Given the description of an element on the screen output the (x, y) to click on. 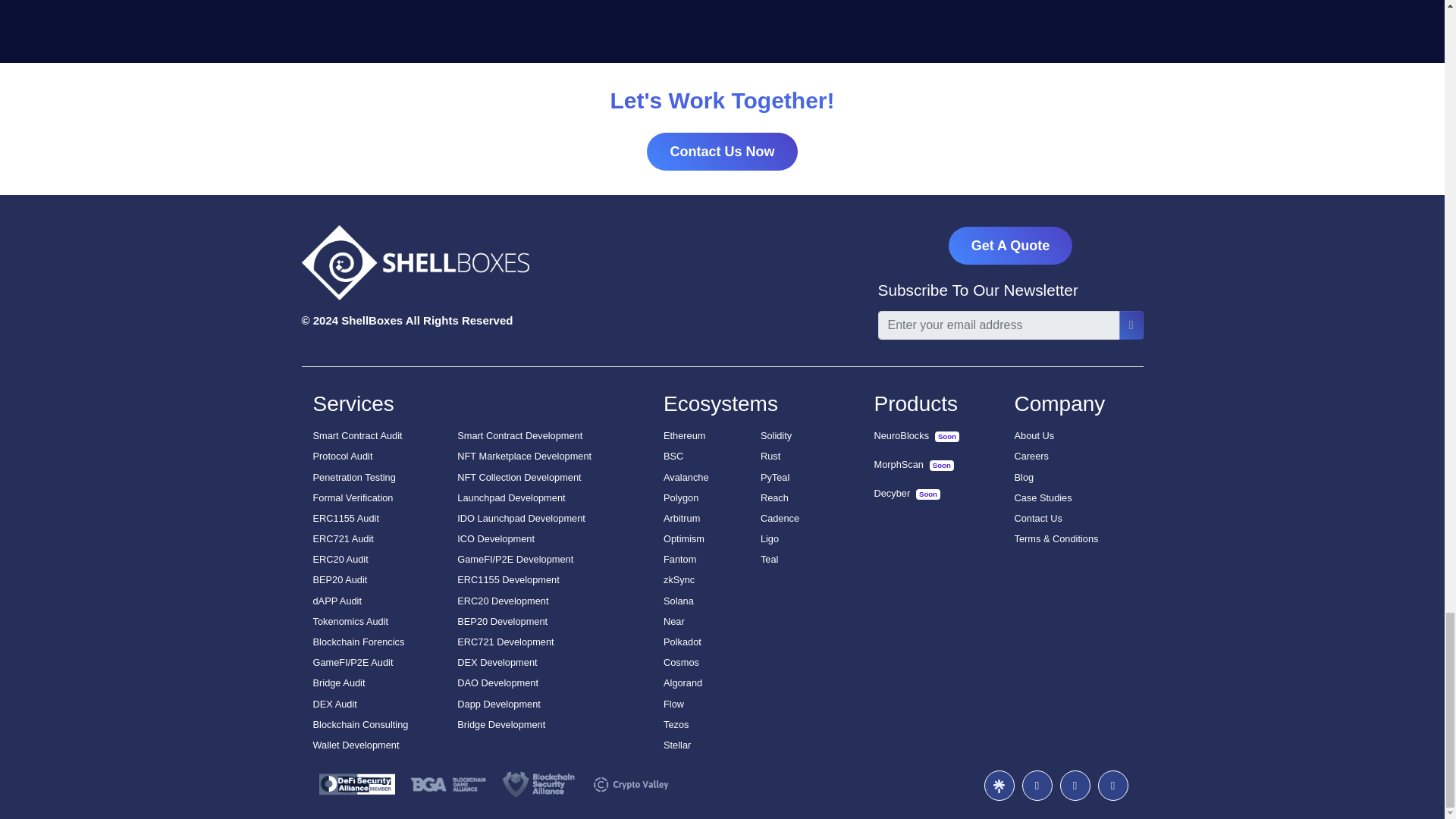
Linktree (999, 785)
Telegram (1037, 785)
Twitter (1074, 785)
Linkedin (1112, 785)
